Given the description of an element on the screen output the (x, y) to click on. 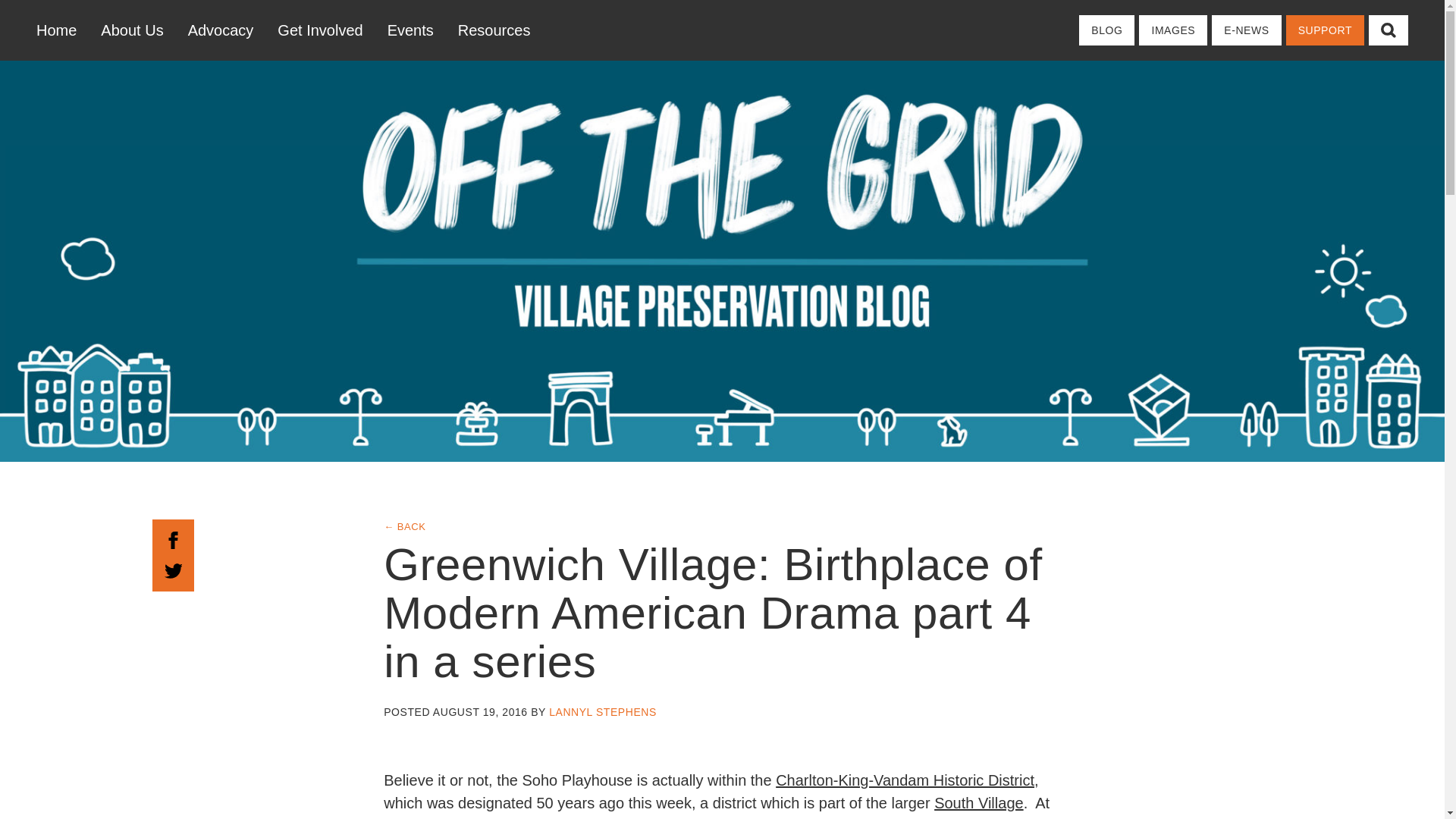
Get Involved (319, 30)
Advocacy (221, 30)
Home (62, 30)
Share on Twitter (173, 568)
Share on Facebook (173, 538)
About Us (131, 30)
Events (410, 30)
